Given the description of an element on the screen output the (x, y) to click on. 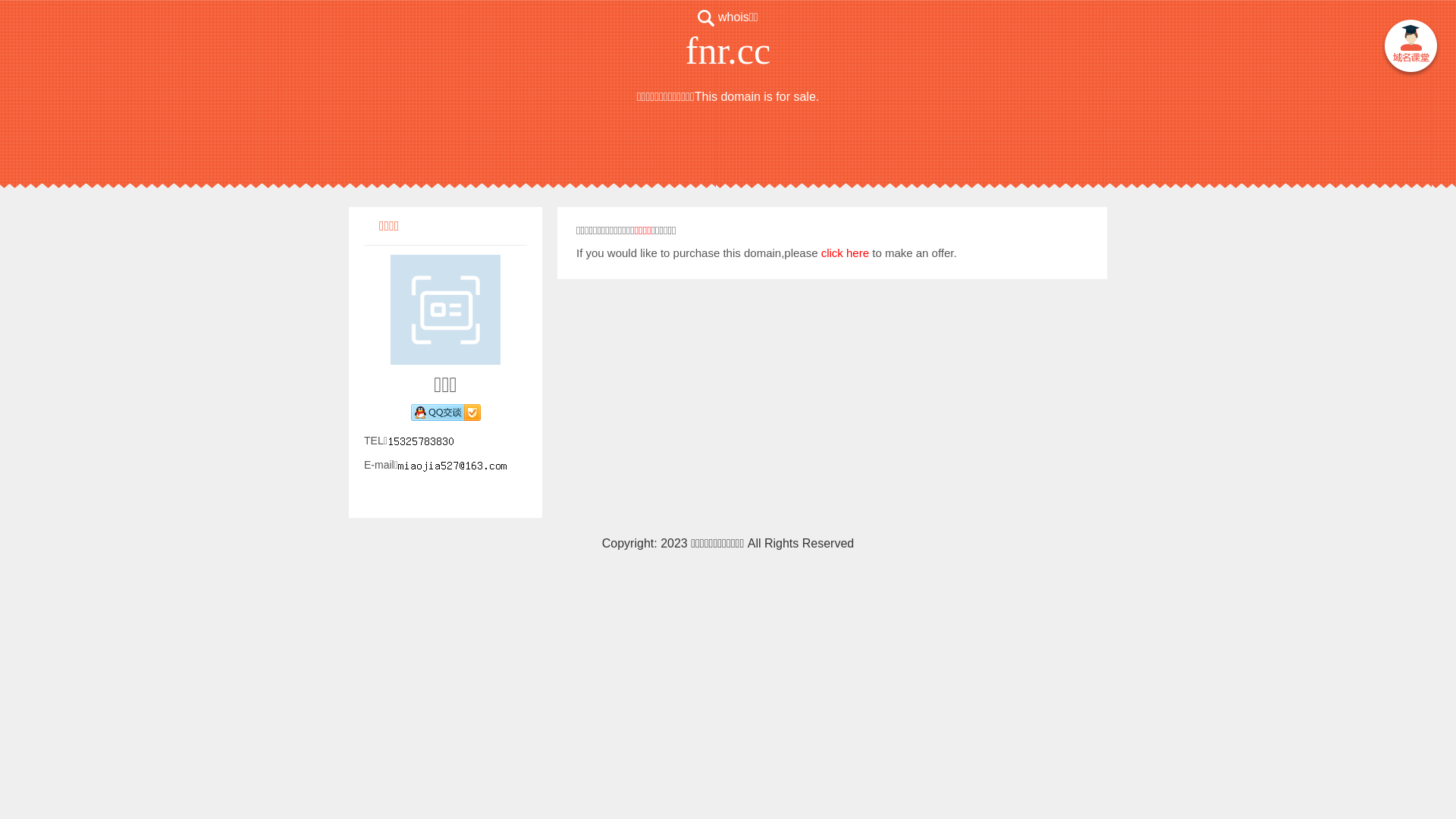
click here Element type: text (845, 252)
  Element type: text (1410, 48)
